Given the description of an element on the screen output the (x, y) to click on. 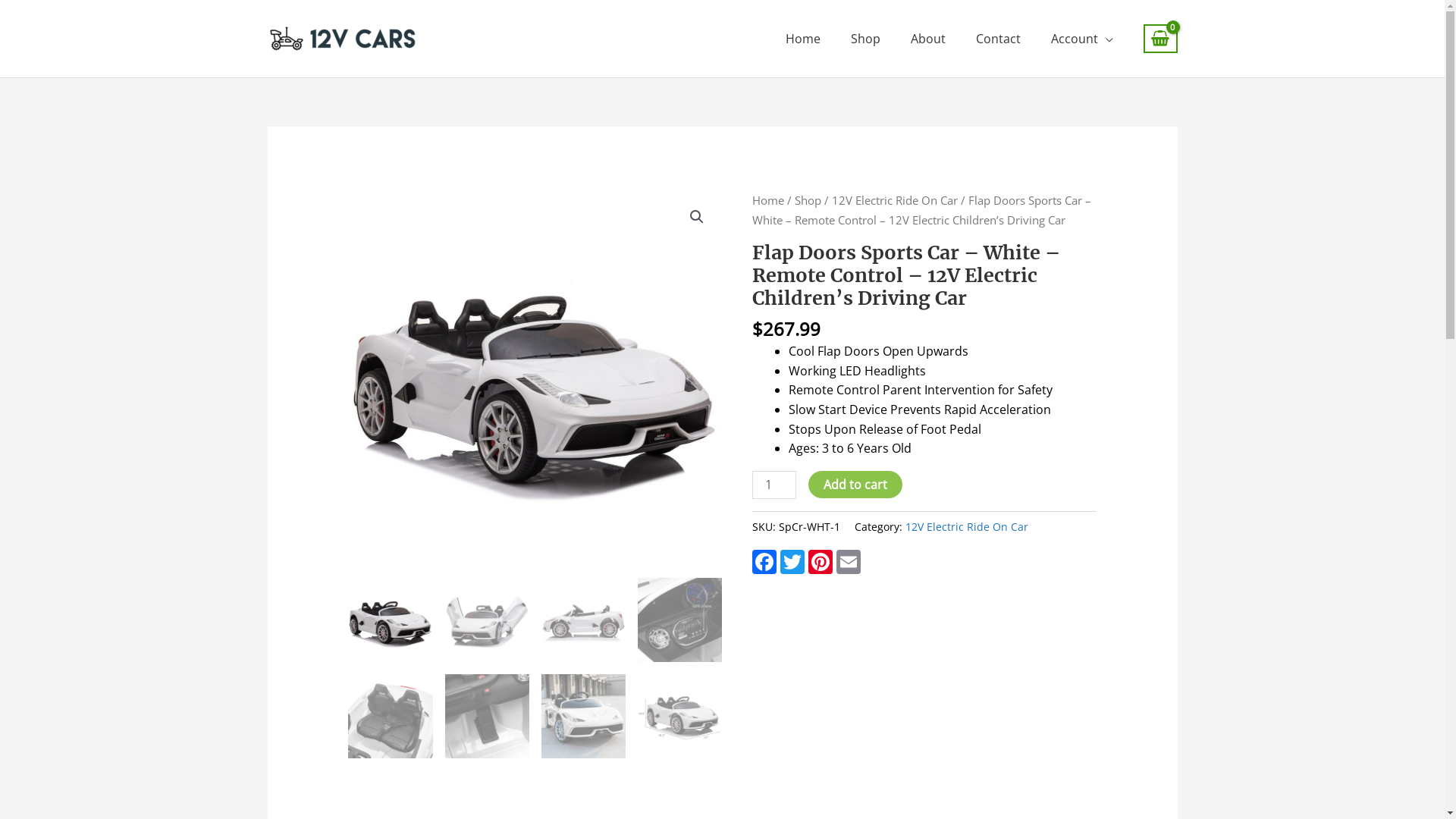
Home Element type: text (802, 38)
Add to cart Element type: text (855, 484)
About Element type: text (927, 38)
Shop Element type: text (865, 38)
Email Element type: text (850, 561)
Home Element type: text (768, 199)
Pinterest Element type: text (822, 561)
12V Electric Ride On Car Element type: text (966, 526)
Contact Element type: text (997, 38)
Account Element type: text (1081, 38)
12V Electric Ride On Car Element type: text (894, 199)
Qty Element type: hover (774, 484)
Twitter Element type: text (794, 561)
Facebook Element type: text (766, 561)
Shop Element type: text (807, 199)
